Given the description of an element on the screen output the (x, y) to click on. 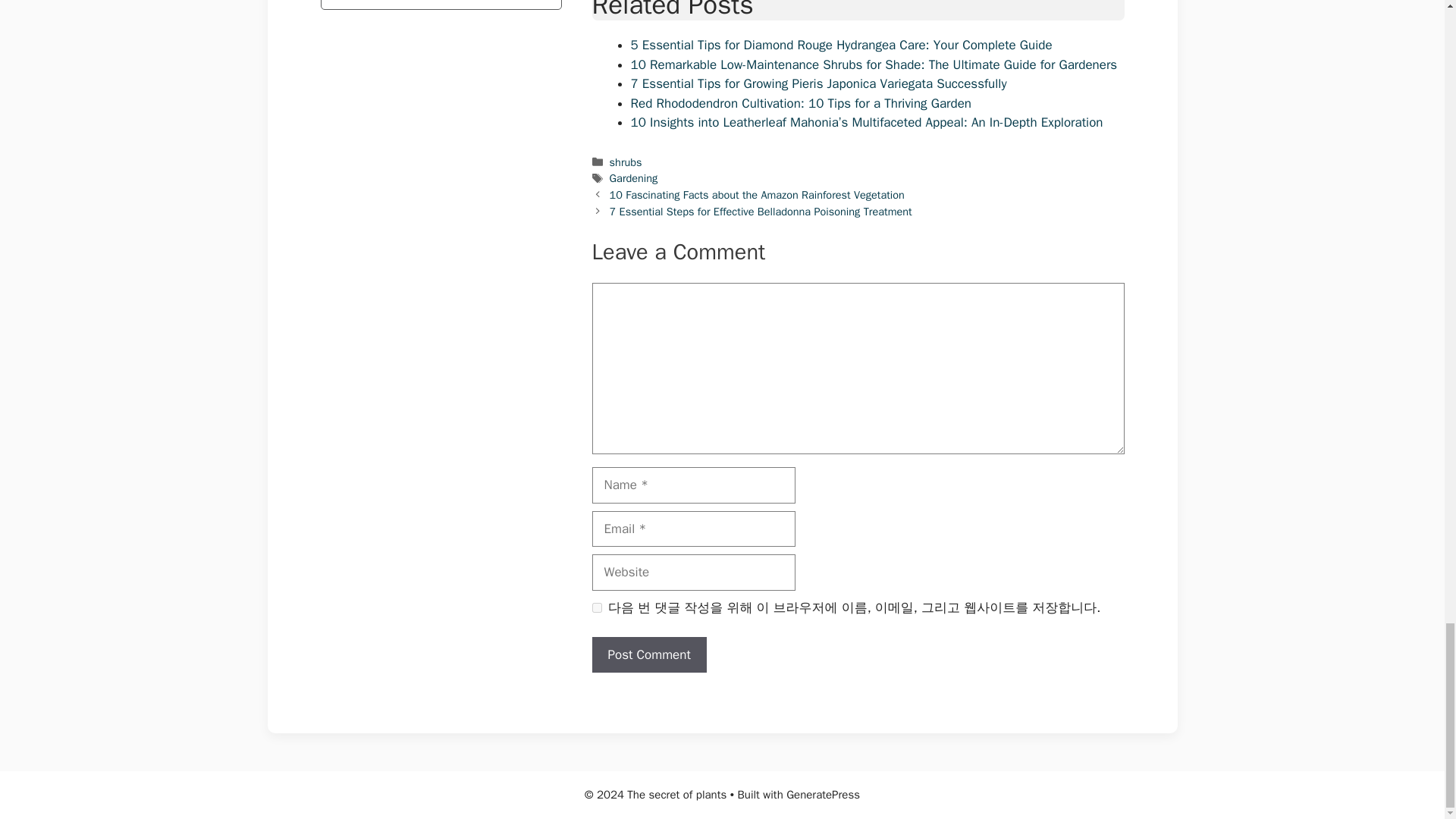
Red Rhododendron Cultivation: 10 Tips for a Thriving Garden (801, 103)
yes (596, 607)
Post Comment (648, 655)
Gardening (634, 178)
10 Fascinating Facts about the Amazon Rainforest Vegetation (757, 194)
Post Comment (648, 655)
shrubs (626, 161)
